Given the description of an element on the screen output the (x, y) to click on. 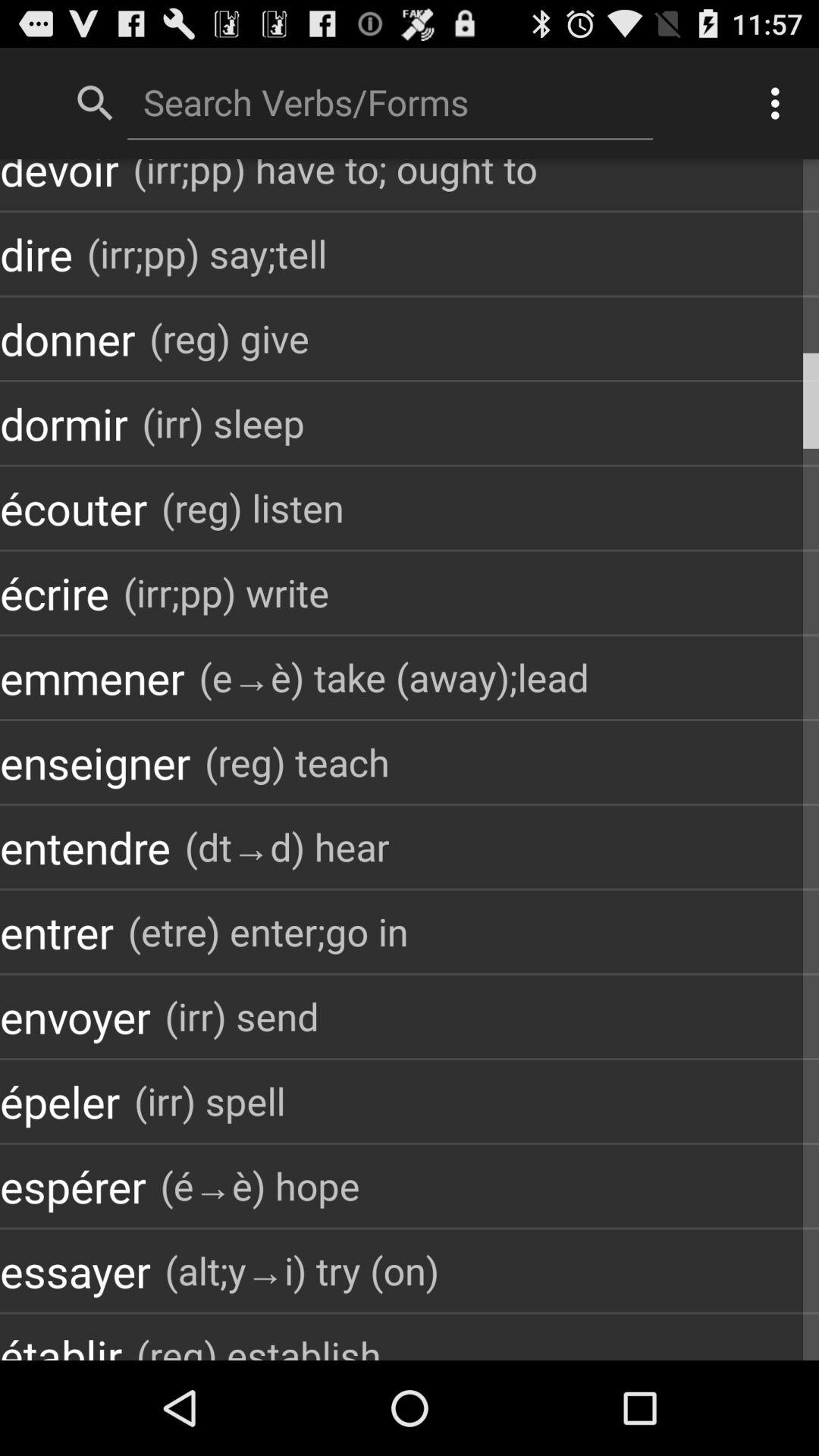
tap the icon to the left of the (irr) sleep item (63, 423)
